Given the description of an element on the screen output the (x, y) to click on. 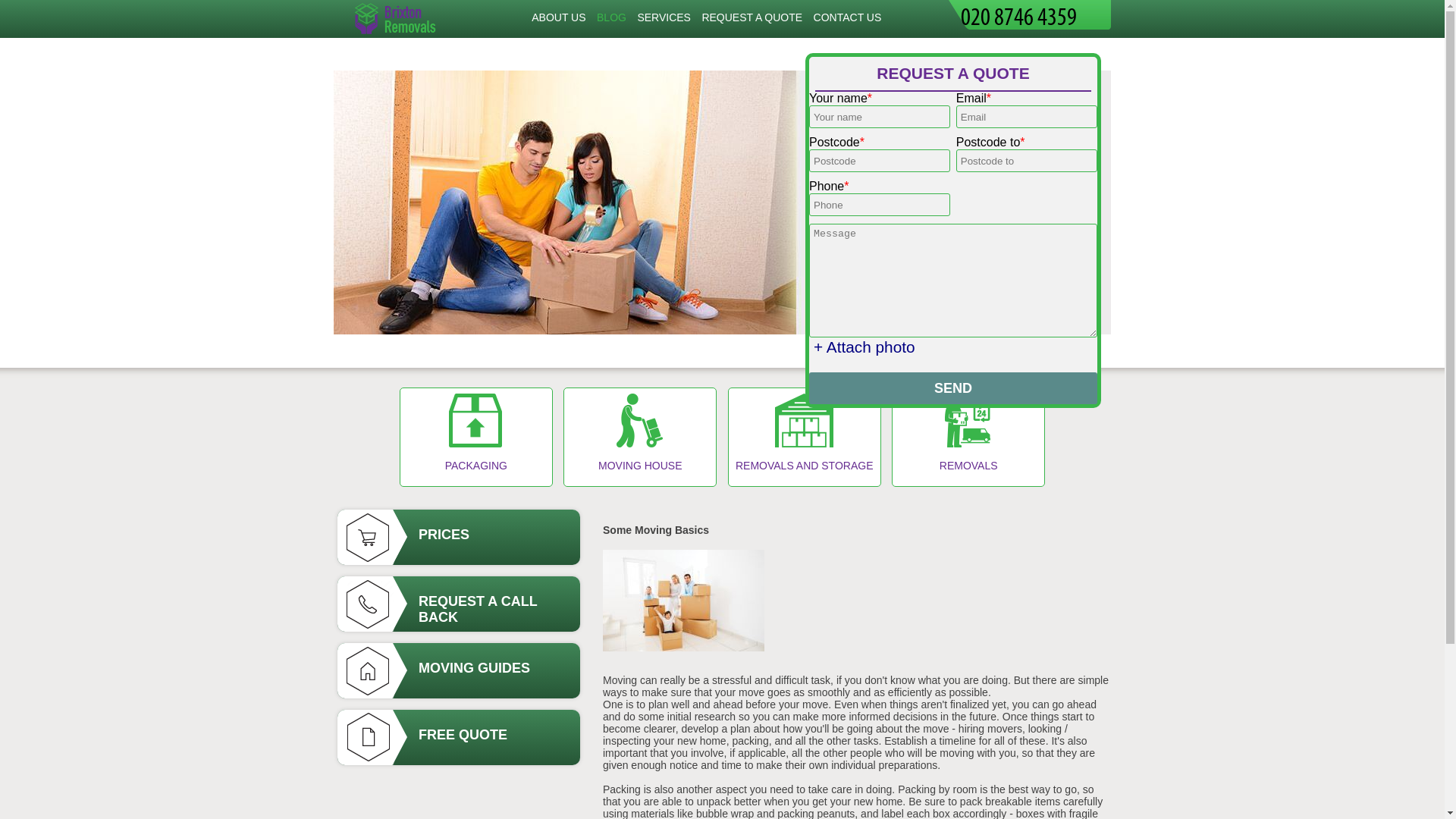
PACKAGING (475, 436)
PRICES (458, 537)
SEND (953, 388)
REQUEST A QUOTE (751, 17)
SERVICES (663, 17)
Call Now! (1035, 13)
MOVING HOUSE (639, 436)
REMOVALS AND STORAGE (804, 436)
MOVING GUIDES (458, 670)
ABOUT US (558, 17)
